Given the description of an element on the screen output the (x, y) to click on. 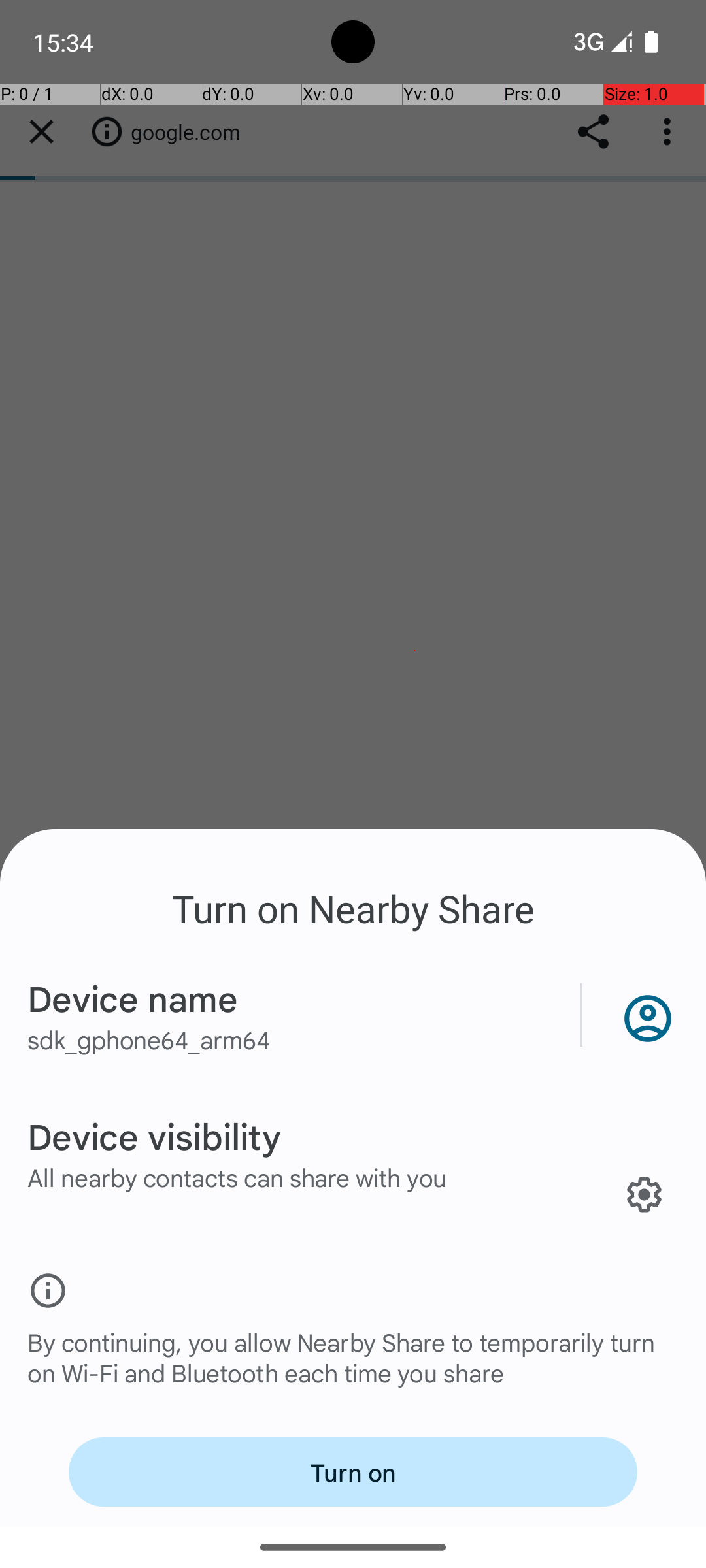
Turn on Nearby Share Element type: android.widget.TextView (353, 908)
No account found Element type: android.widget.FrameLayout (644, 1014)
By continuing, you allow Nearby Share to temporarily turn on Wi-Fi and Bluetooth each time you share Element type: android.widget.TextView (353, 1370)
Turn on Element type: android.widget.Button (352, 1471)
Device name Element type: android.widget.TextView (132, 997)
sdk_gphone64_arm64 Element type: android.widget.TextView (148, 1039)
Device visibility Element type: android.widget.TextView (154, 1135)
All nearby contacts can share with you Element type: android.widget.TextView (237, 1177)
